Given the description of an element on the screen output the (x, y) to click on. 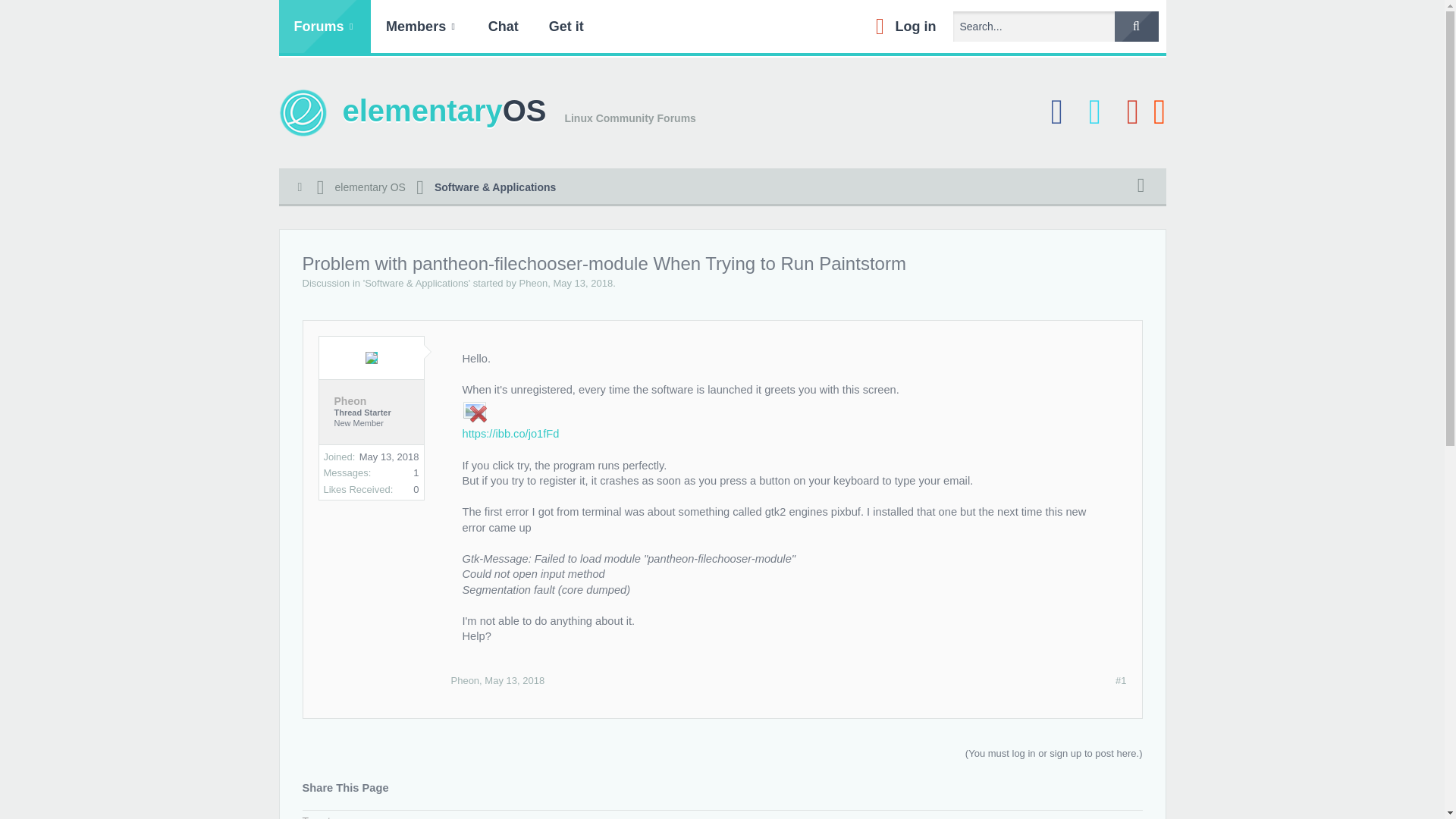
Pheon (533, 283)
Enter your search and hit enter (1052, 26)
Log in (902, 26)
elementary OS (370, 187)
Permalink (514, 680)
elementaryOS Linux Community Forums (487, 113)
Get it (566, 26)
May 13, 2018 (582, 283)
Chat (503, 26)
May 13, 2018 at 7:54 PM (582, 283)
